Given the description of an element on the screen output the (x, y) to click on. 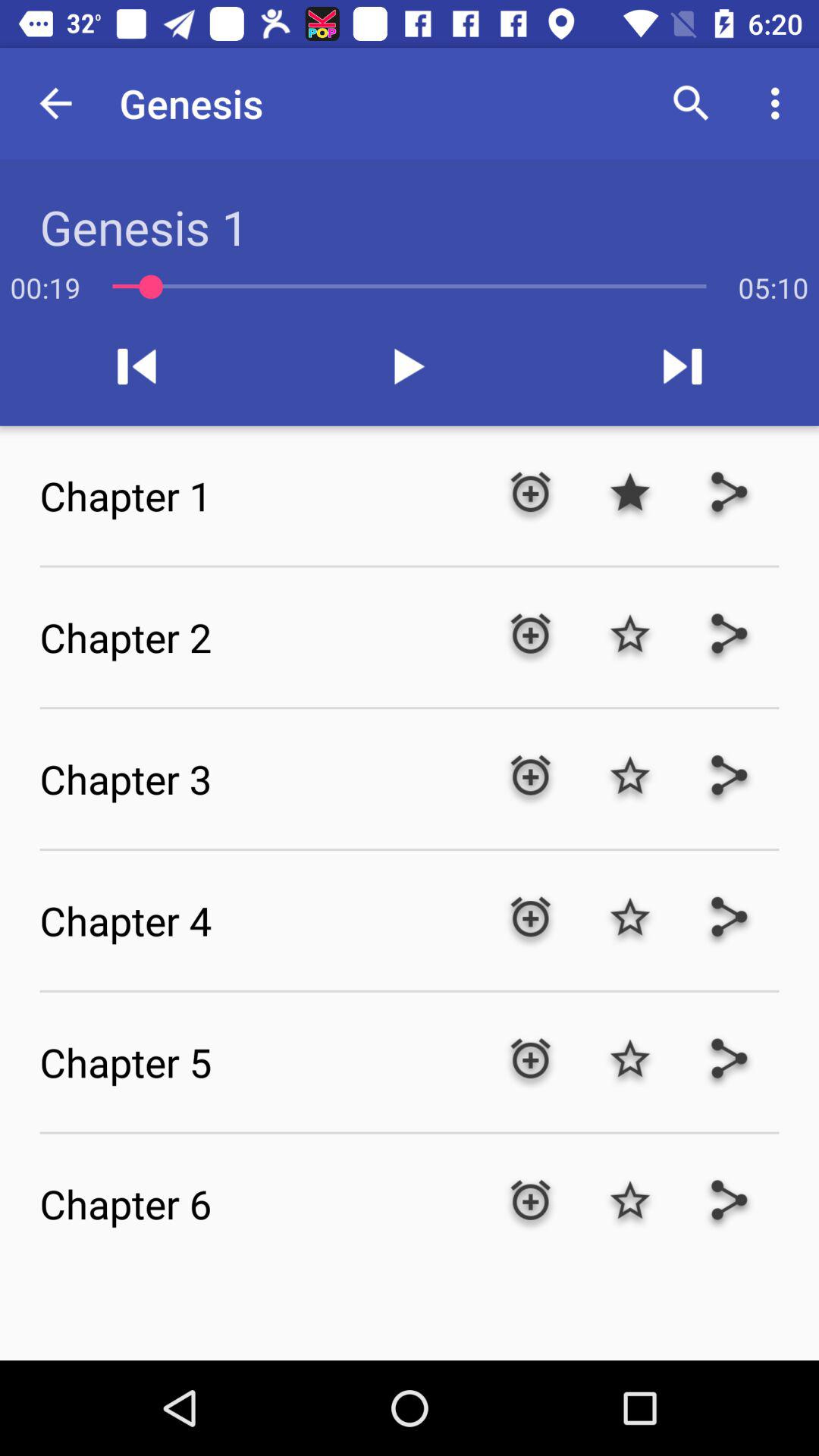
press the item next to the genesis (691, 103)
